Given the description of an element on the screen output the (x, y) to click on. 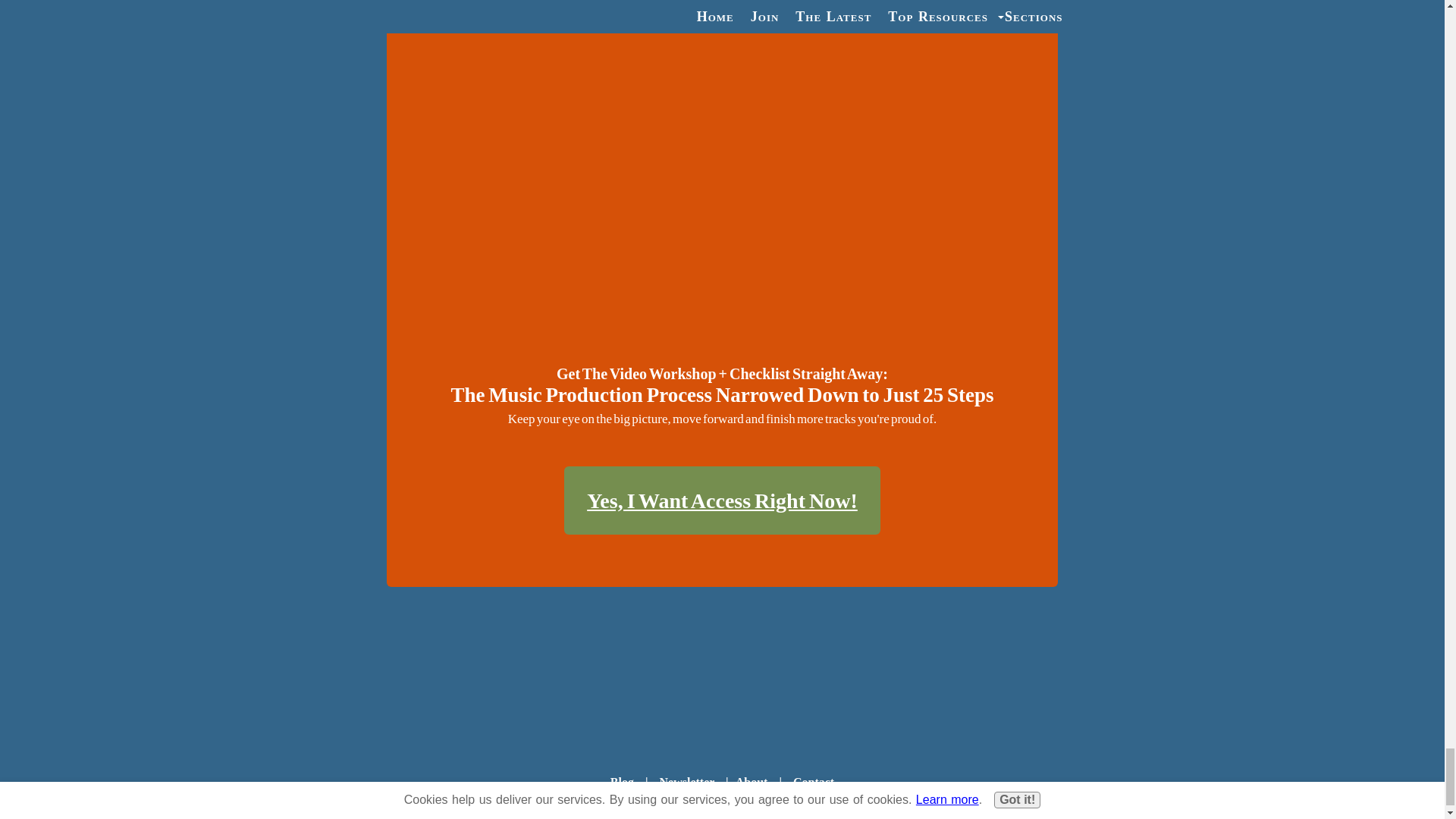
Go to RenegadeProducer - Produce Music Like a Pro (722, 707)
Yes, I Want Access Right Now! (722, 499)
